Given the description of an element on the screen output the (x, y) to click on. 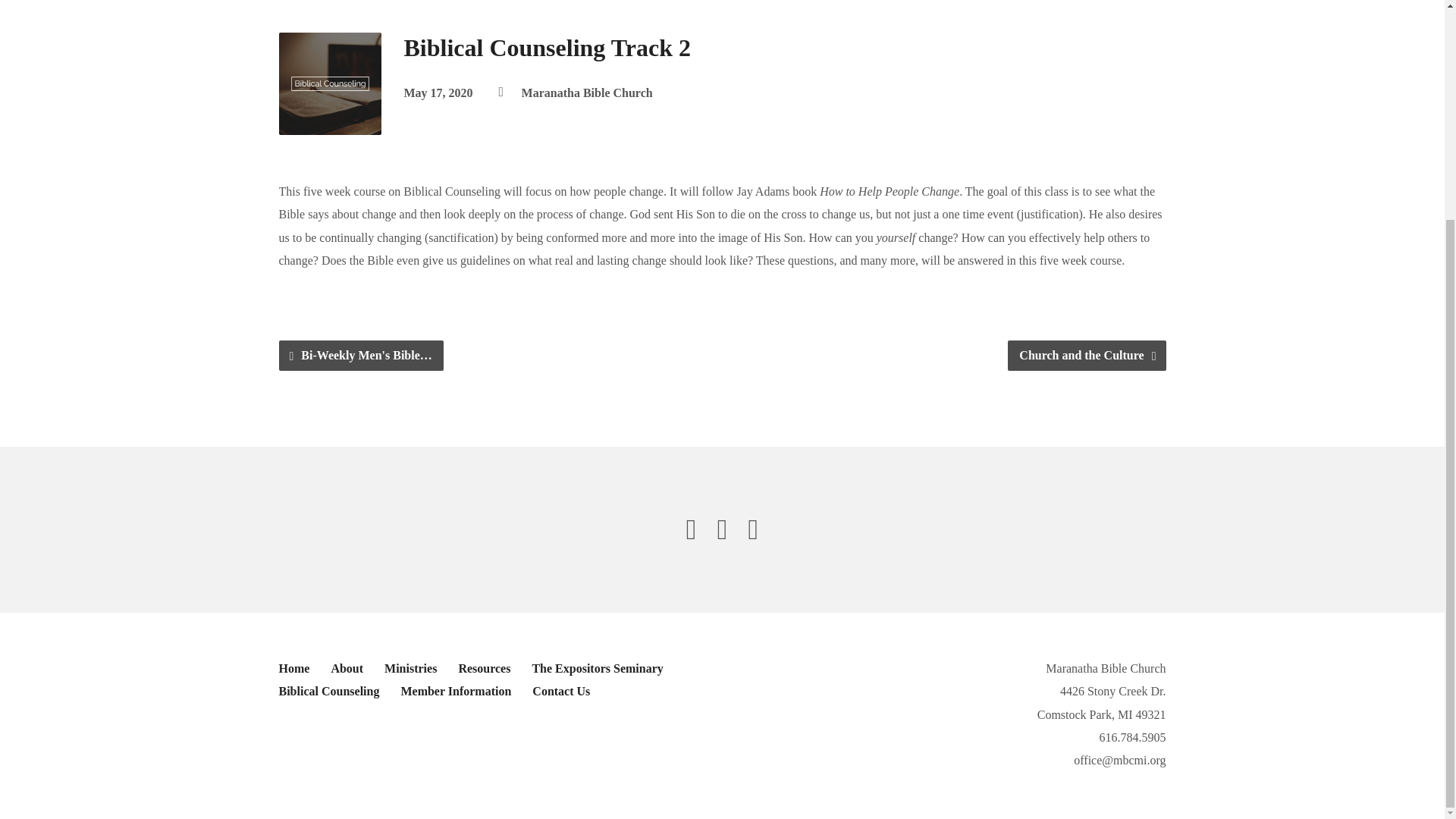
Instagram (753, 529)
Facebook (691, 529)
YouTube (722, 529)
